Given the description of an element on the screen output the (x, y) to click on. 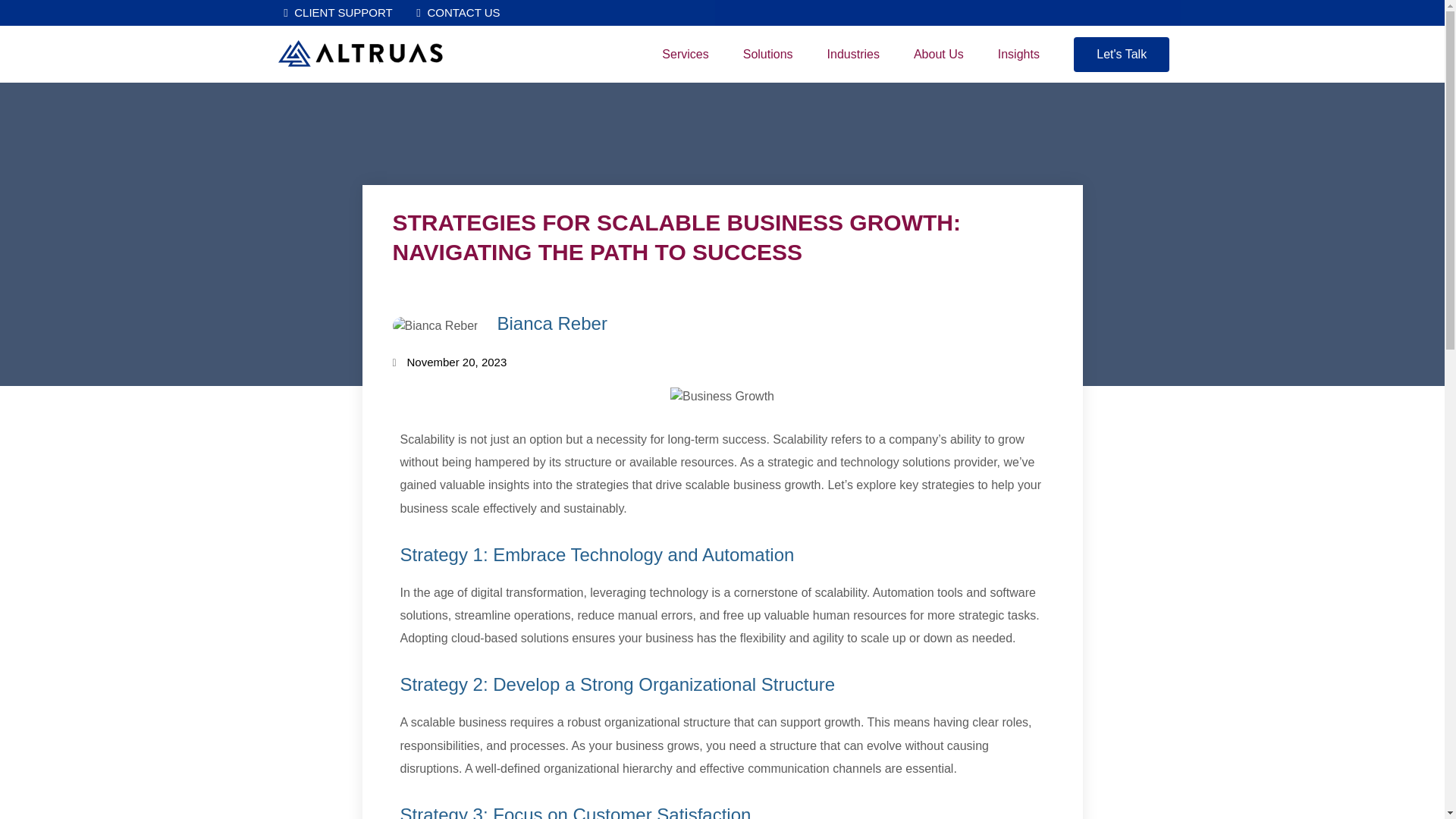
Industries (853, 54)
Solutions (768, 54)
Services (684, 54)
CONTACT US (456, 13)
CLIENT SUPPORT (336, 13)
About Us (938, 54)
Business Growth (721, 396)
Insights (1018, 54)
